Given the description of an element on the screen output the (x, y) to click on. 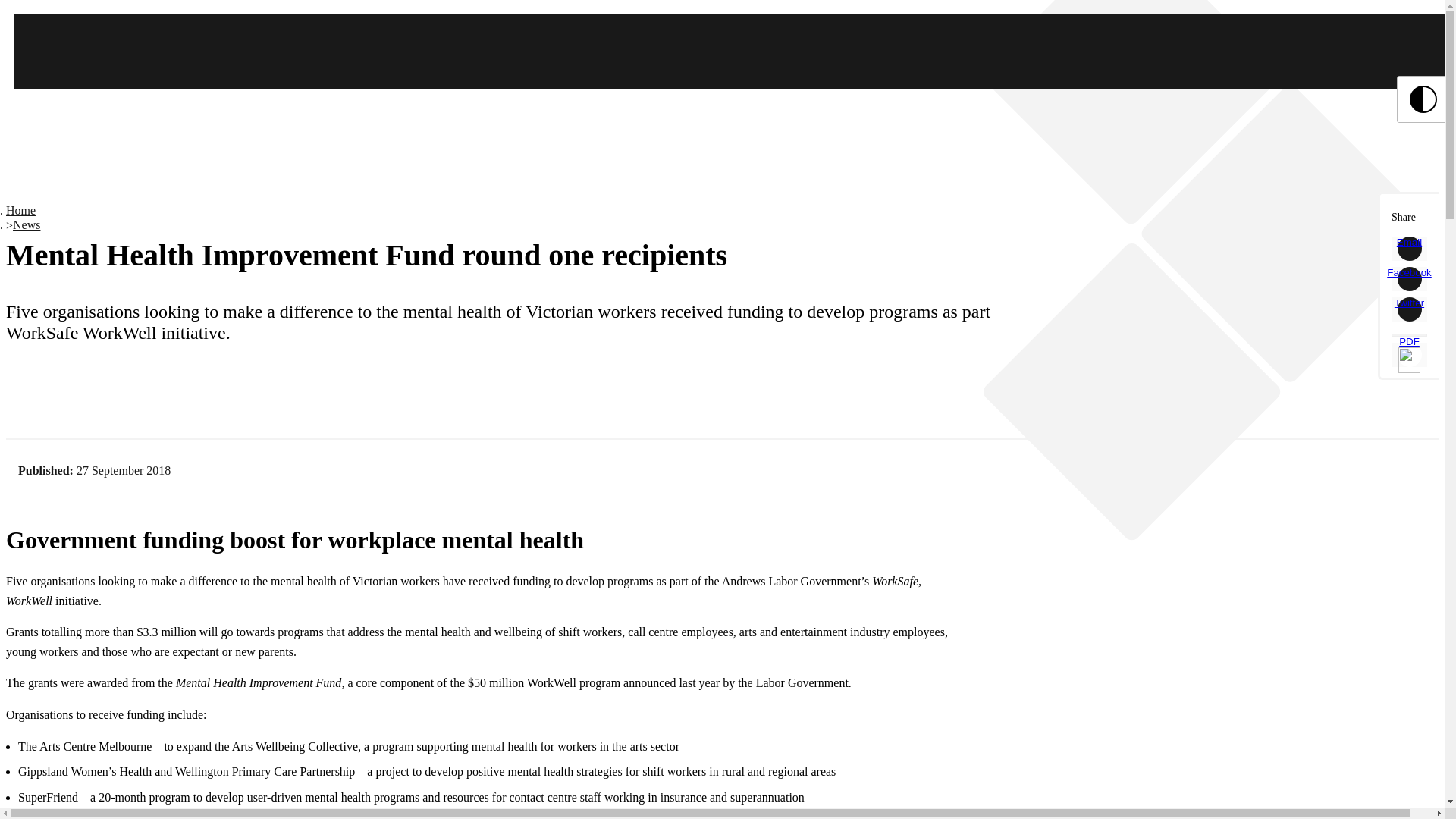
Twitter (1408, 309)
News (26, 224)
Home (19, 210)
PDF (1408, 354)
Facebook (1408, 278)
Email (1408, 248)
